Given the description of an element on the screen output the (x, y) to click on. 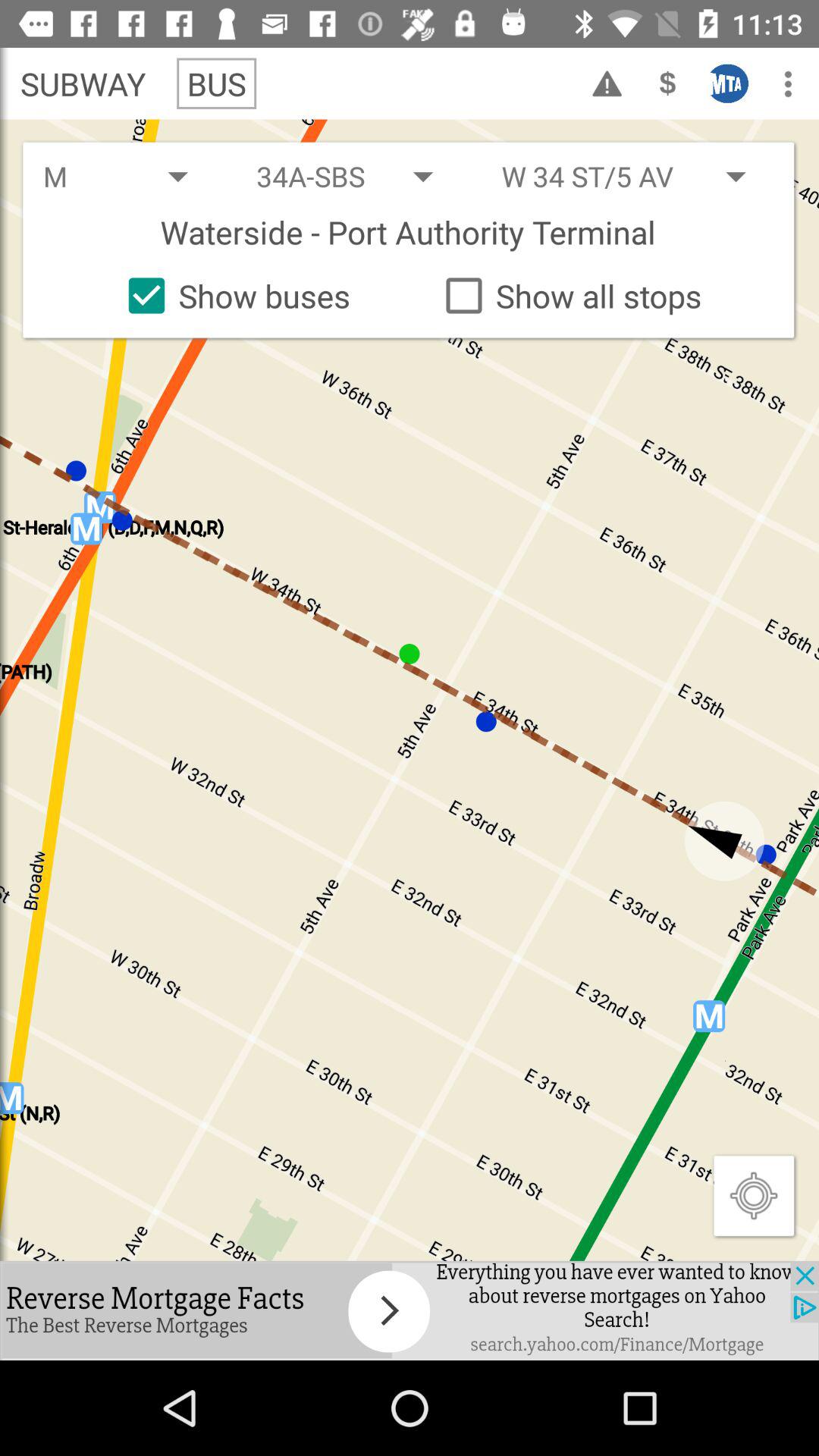
advertiser banner (409, 1310)
